Given the description of an element on the screen output the (x, y) to click on. 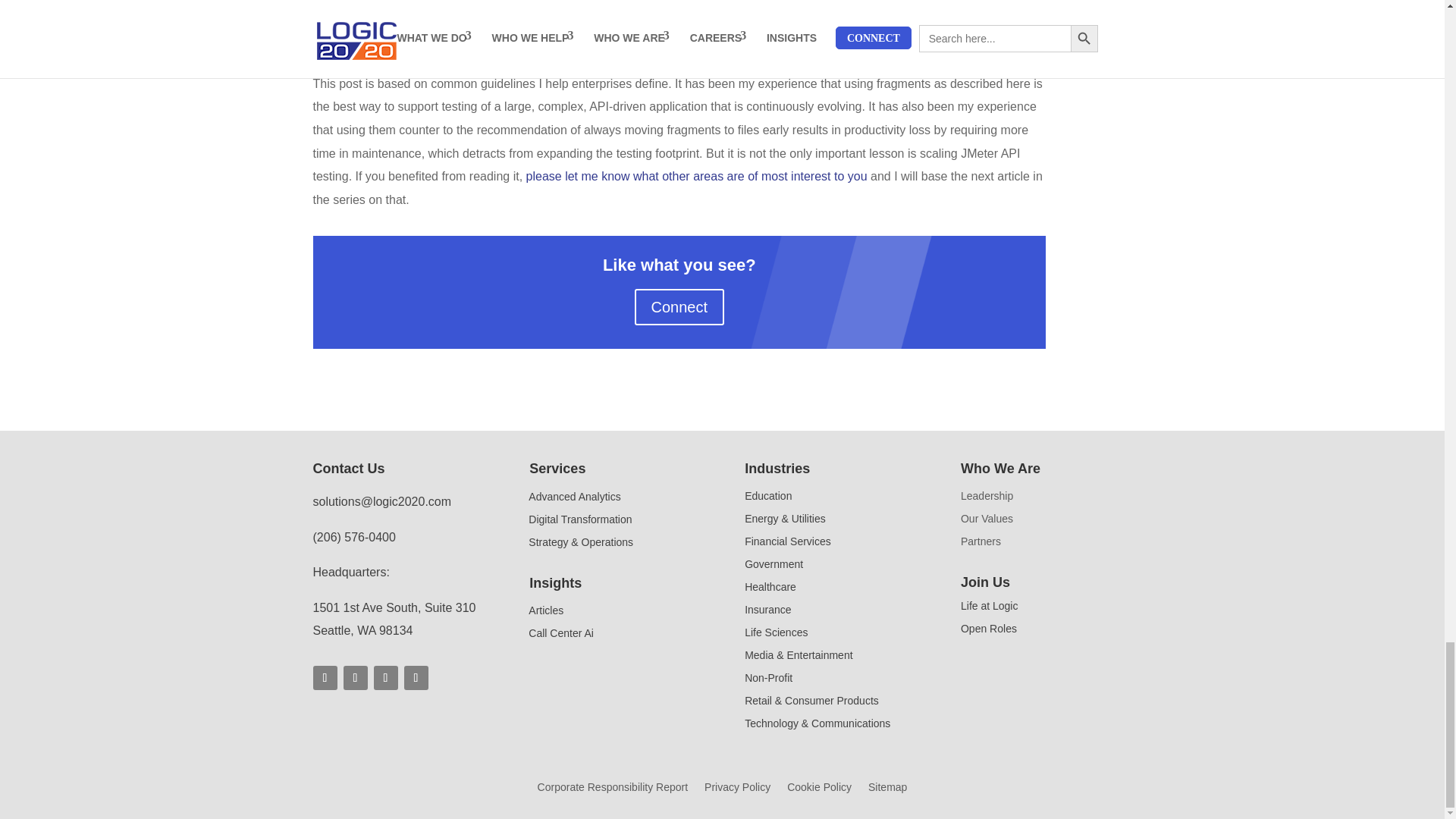
Follow on Instagram (415, 677)
Follow on Facebook (324, 677)
Follow on LinkedIn (354, 677)
Contact me on LinkedIn (696, 175)
Follow on X (384, 677)
